Given the description of an element on the screen output the (x, y) to click on. 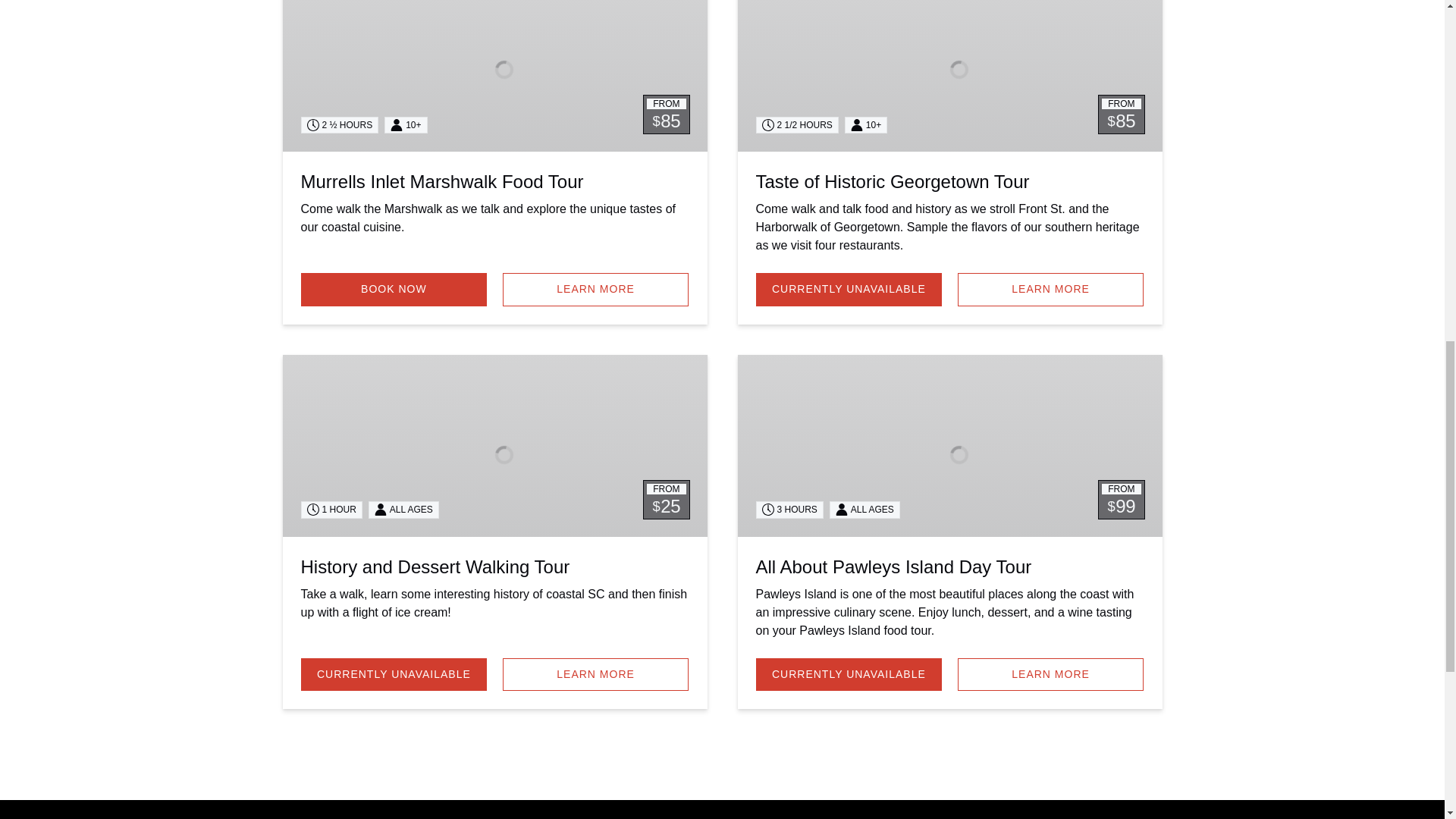
CURRENTLY UNAVAILABLE (392, 674)
CURRENTLY UNAVAILABLE (848, 674)
activity link (494, 445)
History and Dessert Walking Tour (434, 566)
Murrells Inlet Marshwalk Food Tour (441, 181)
All About Pawleys Island Day Tour (892, 566)
LEARN MORE (1051, 674)
CURRENTLY UNAVAILABLE (848, 289)
activity link (948, 445)
FareHarbor (1342, 64)
